Given the description of an element on the screen output the (x, y) to click on. 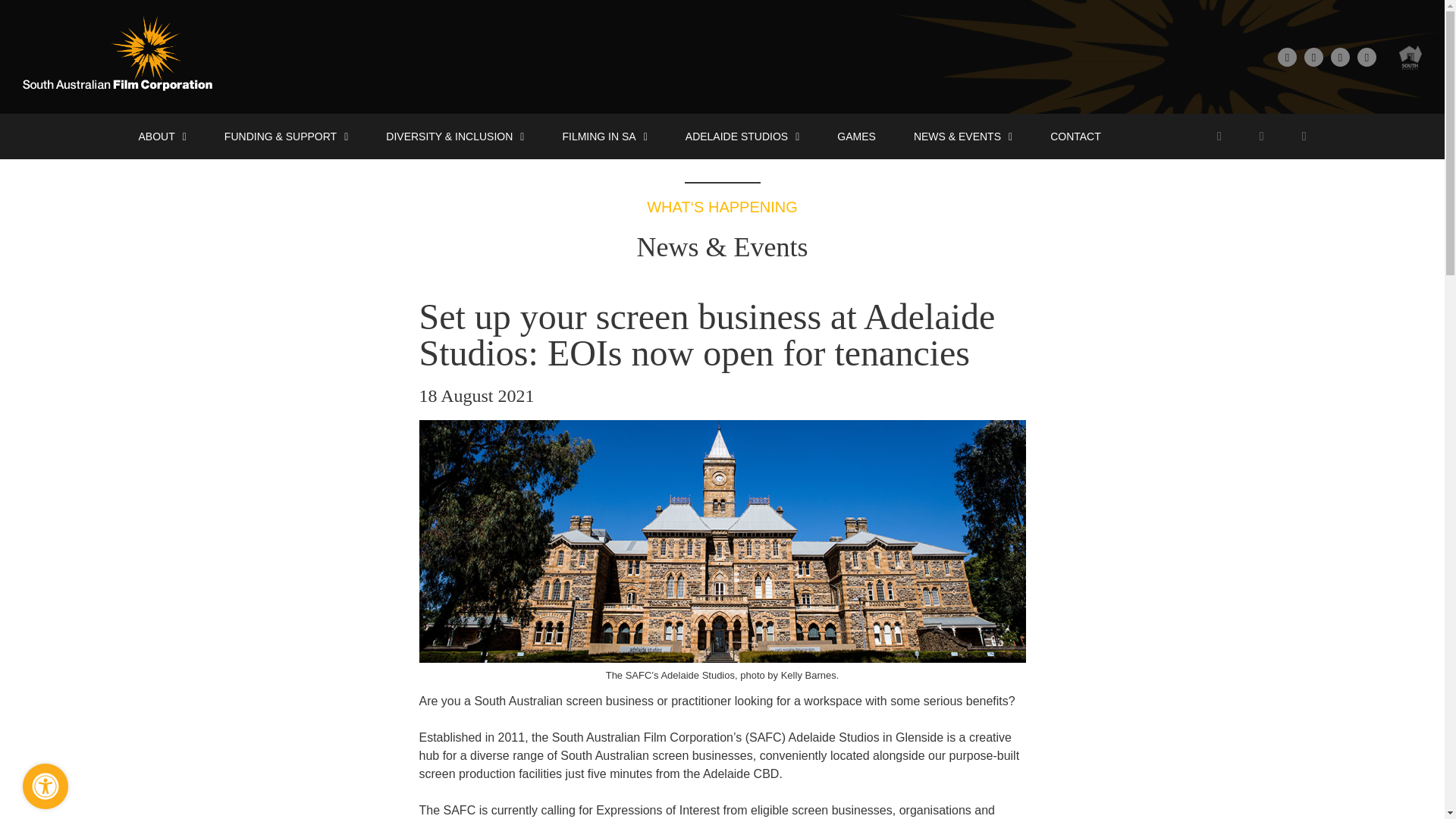
ADELAIDE STUDIOS (742, 136)
Facebook (1287, 56)
South Australia (1410, 56)
FILMING IN SA (604, 136)
Instagram (1365, 56)
ABOUT (162, 136)
Twitter (1313, 56)
Youtube (1339, 56)
